Given the description of an element on the screen output the (x, y) to click on. 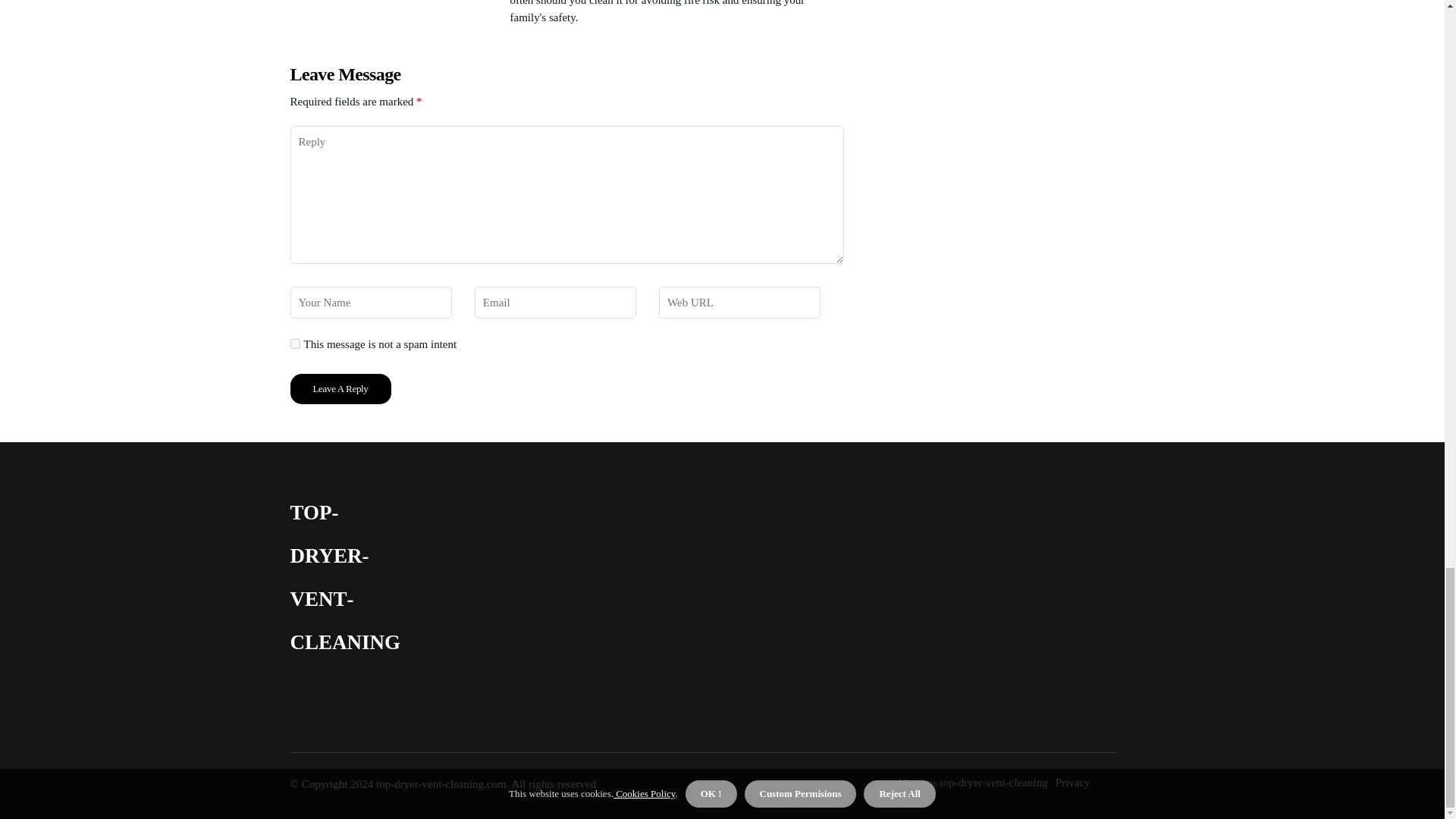
Leave a Reply (339, 388)
yes (294, 343)
Leave a Reply (339, 388)
